Given the description of an element on the screen output the (x, y) to click on. 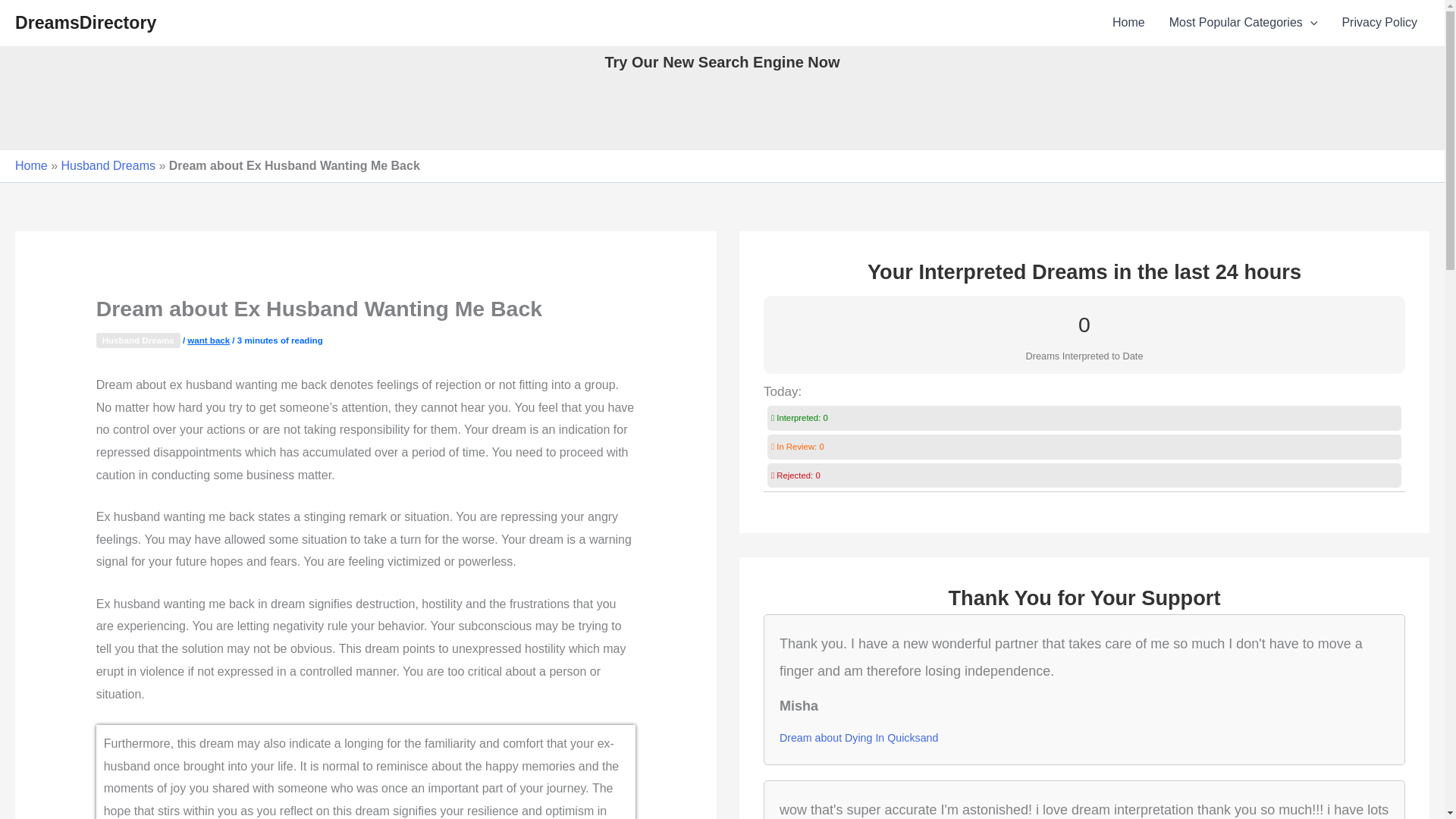
Husband Dreams (108, 164)
DreamsDirectory (84, 22)
Husband Dreams (138, 340)
want back (208, 339)
Home (31, 164)
Home (1128, 22)
Most Popular Categories (1243, 22)
Privacy Policy (1379, 22)
